Given the description of an element on the screen output the (x, y) to click on. 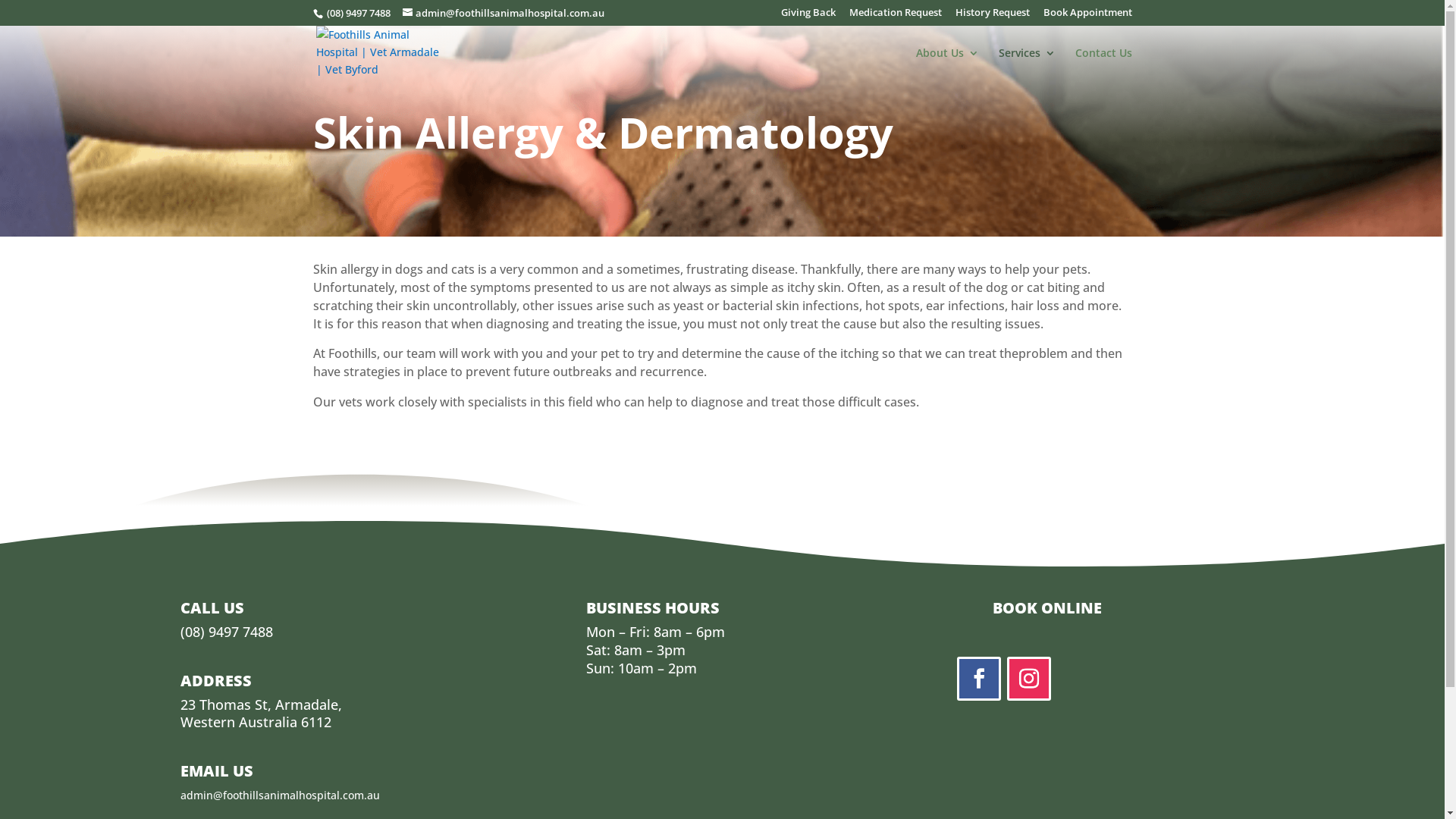
History Request Element type: text (992, 16)
Contact Us Element type: text (1103, 65)
Follow on Instagram Element type: hover (1029, 678)
About Us Element type: text (947, 65)
admin@foothillsanimalhospital.com.au Element type: text (279, 794)
Medication Request Element type: text (895, 16)
Follow on Facebook Element type: hover (979, 678)
(08) 9497 7488 Element type: text (226, 631)
Book Appointment Element type: text (1087, 16)
Giving Back Element type: text (808, 16)
admin@foothillsanimalhospital.com.au Element type: text (502, 12)
Services Element type: text (1025, 65)
